Given the description of an element on the screen output the (x, y) to click on. 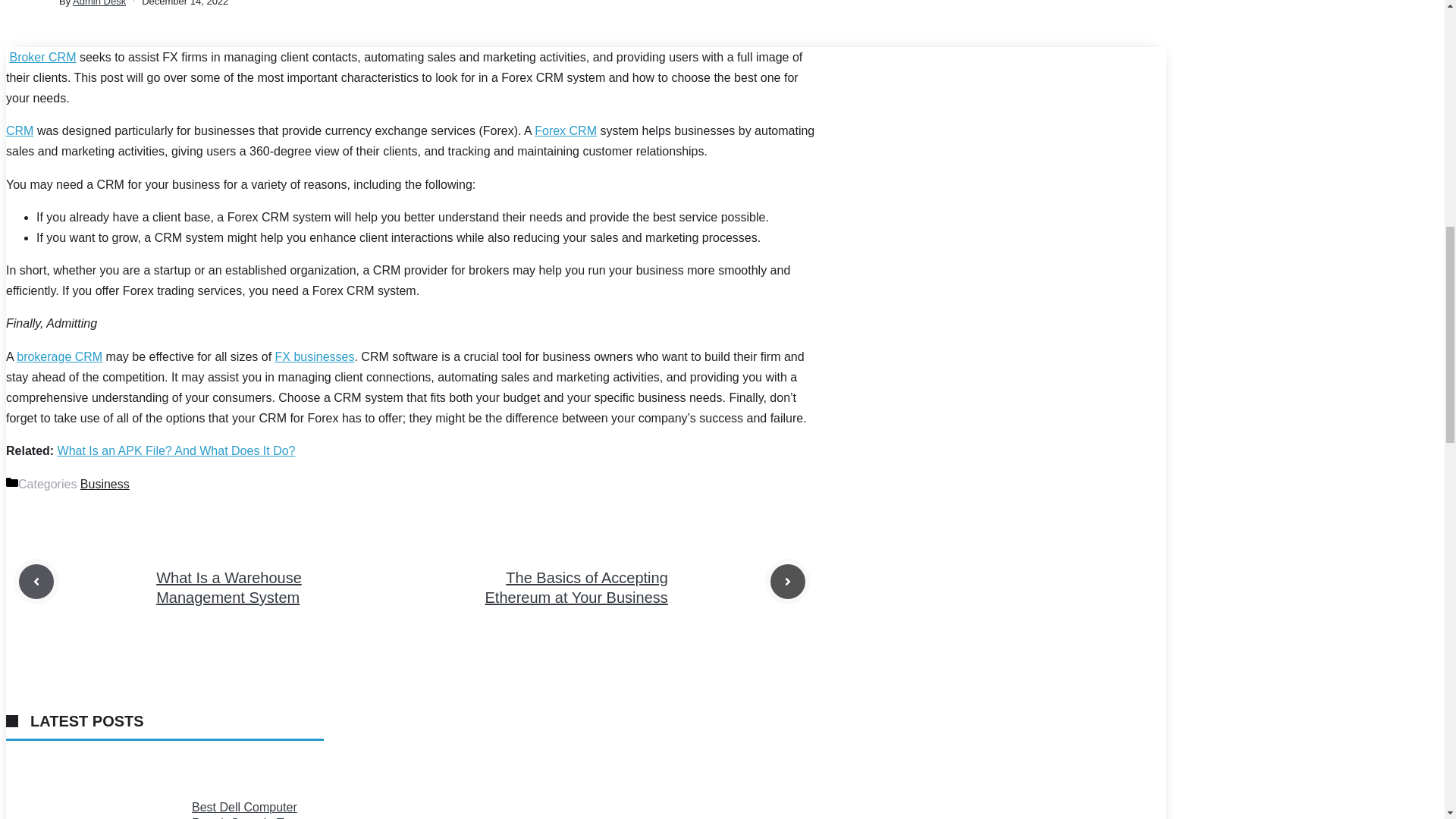
CRM (19, 130)
What Is an APK File? And What Does It Do? (176, 450)
Admin Desk (98, 3)
What Is an APK File? And What Does It Do? (176, 450)
Forex CRM (565, 130)
Best Dell Computer Repair Store In Tampa, Florida (253, 809)
The Basics of Accepting Ethereum at Your Business (576, 587)
brokerage CRM (58, 356)
FX businesses (315, 356)
Scroll back to top (1406, 720)
Broker CRM (41, 56)
What Is a Warehouse Management System (228, 587)
Business (104, 483)
